Given the description of an element on the screen output the (x, y) to click on. 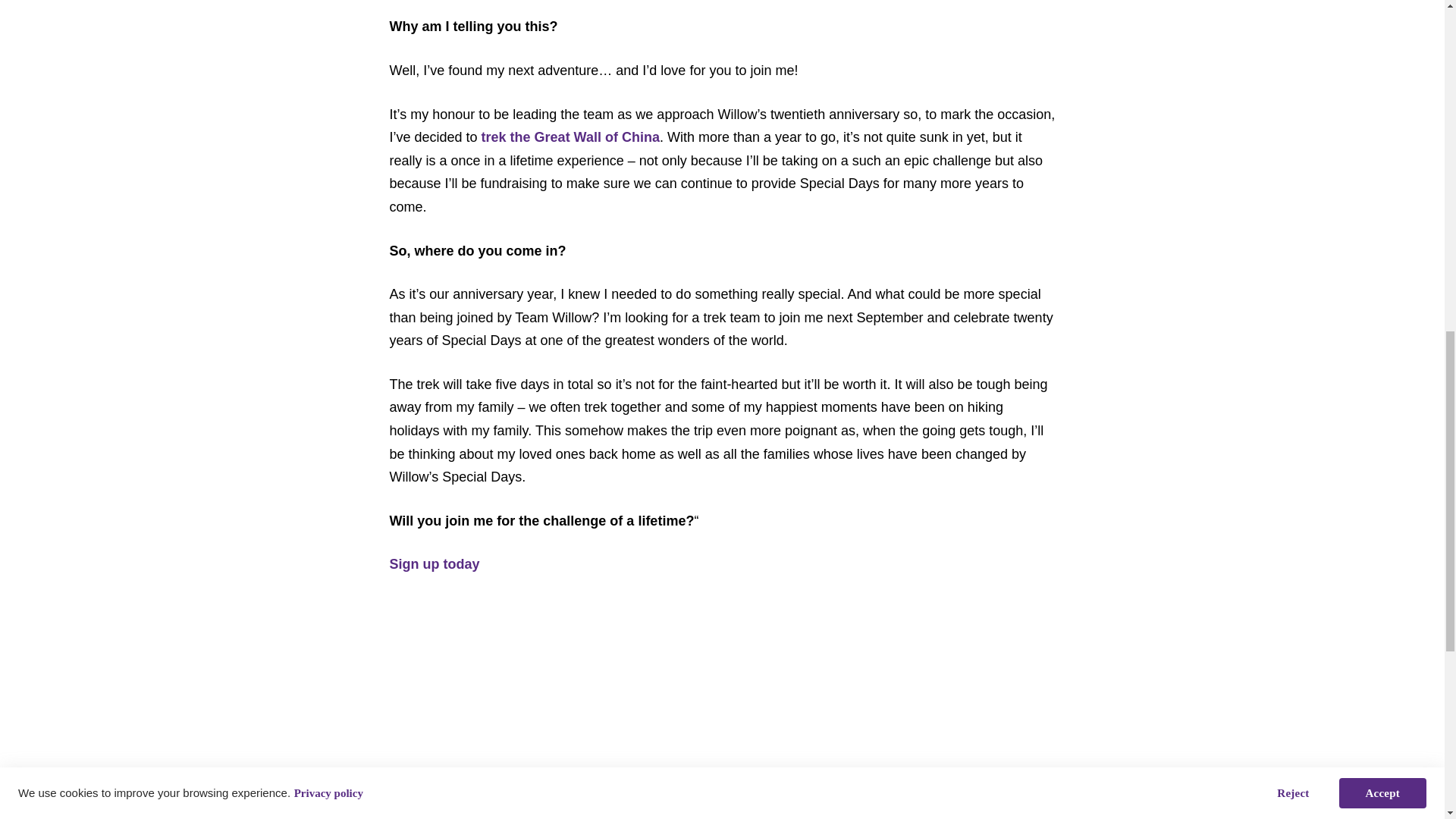
Accept (1382, 28)
Reject (1292, 33)
Privacy policy (328, 36)
